Given the description of an element on the screen output the (x, y) to click on. 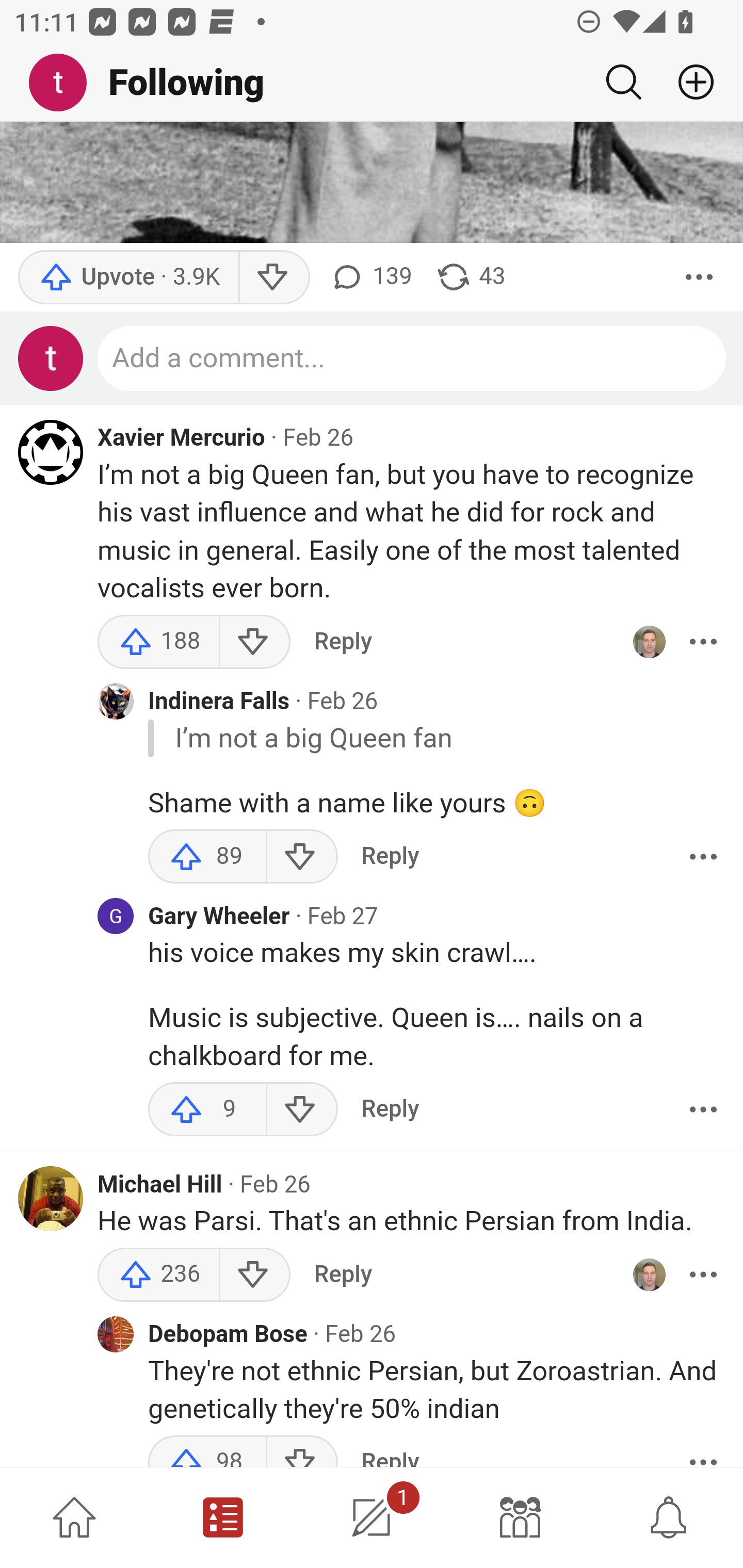
Me (64, 83)
Search (623, 82)
Add (688, 82)
Upvote (127, 277)
Downvote (273, 277)
139 comments (369, 277)
43 shares (470, 277)
More (699, 277)
Profile photo for Test Appium (50, 359)
Add a comment... (412, 359)
Profile photo for Xavier Mercurio (50, 452)
Xavier Mercurio (181, 440)
188 upvotes (158, 642)
Downvote (253, 642)
Reply (342, 642)
Profile photo for Sean Kernan (648, 642)
More (703, 642)
Profile photo for Indinera Falls (115, 702)
Indinera Falls (218, 703)
89 upvotes (207, 856)
Downvote (302, 856)
Reply (389, 856)
More (703, 856)
Profile photo for Gary Wheeler (115, 917)
Gary Wheeler (218, 918)
9 upvotes (207, 1109)
Downvote (302, 1109)
Reply (389, 1109)
More (703, 1109)
Profile photo for Michael Hill (50, 1200)
Michael Hill (160, 1185)
236 upvotes (158, 1276)
Downvote (253, 1276)
Reply (342, 1276)
Profile photo for Sean Kernan (648, 1276)
More (703, 1276)
Profile photo for Debopam Bose (115, 1335)
Debopam Bose (227, 1335)
1 (371, 1517)
